Given the description of an element on the screen output the (x, y) to click on. 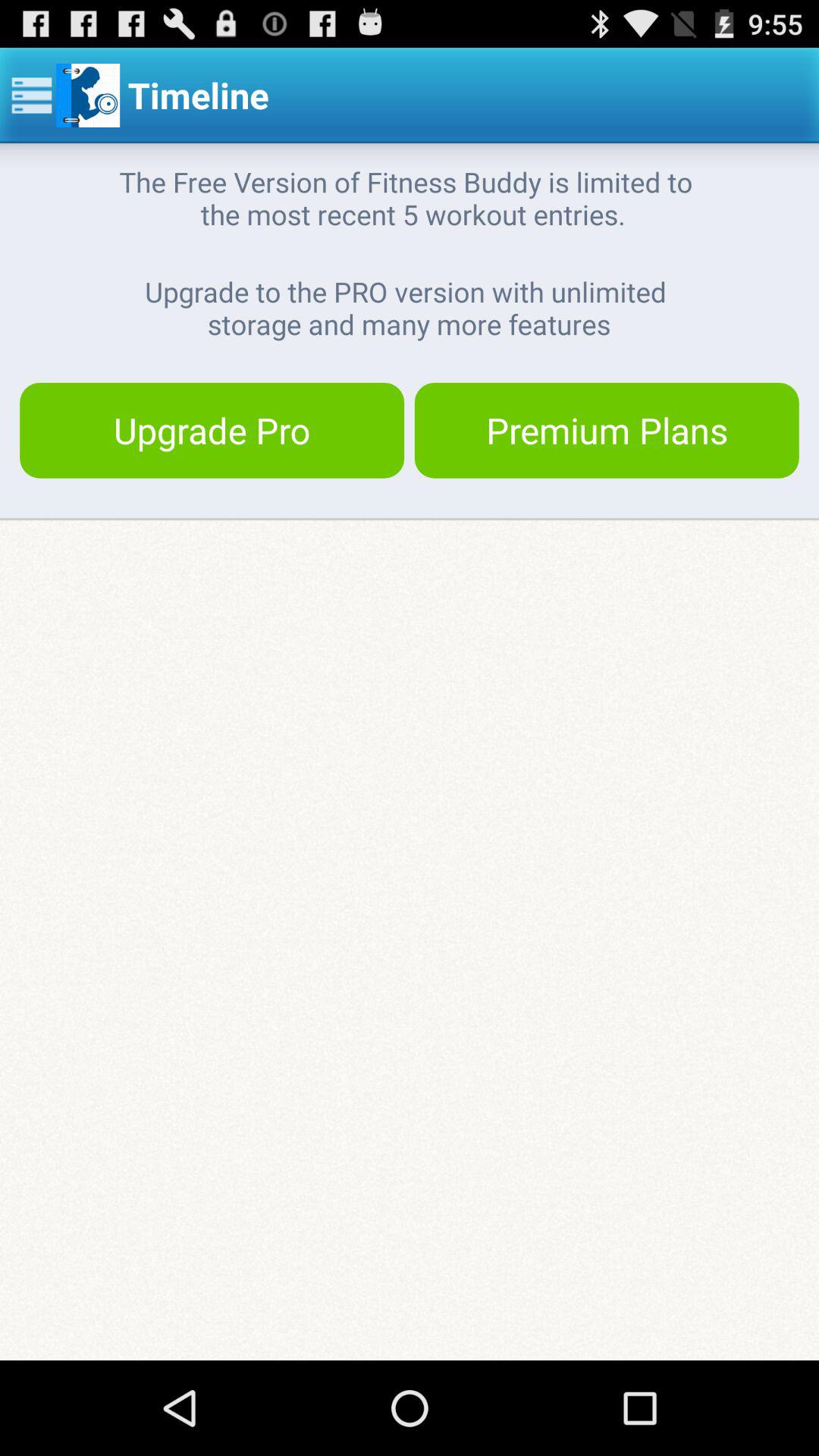
click the icon next to upgrade pro button (606, 430)
